Given the description of an element on the screen output the (x, y) to click on. 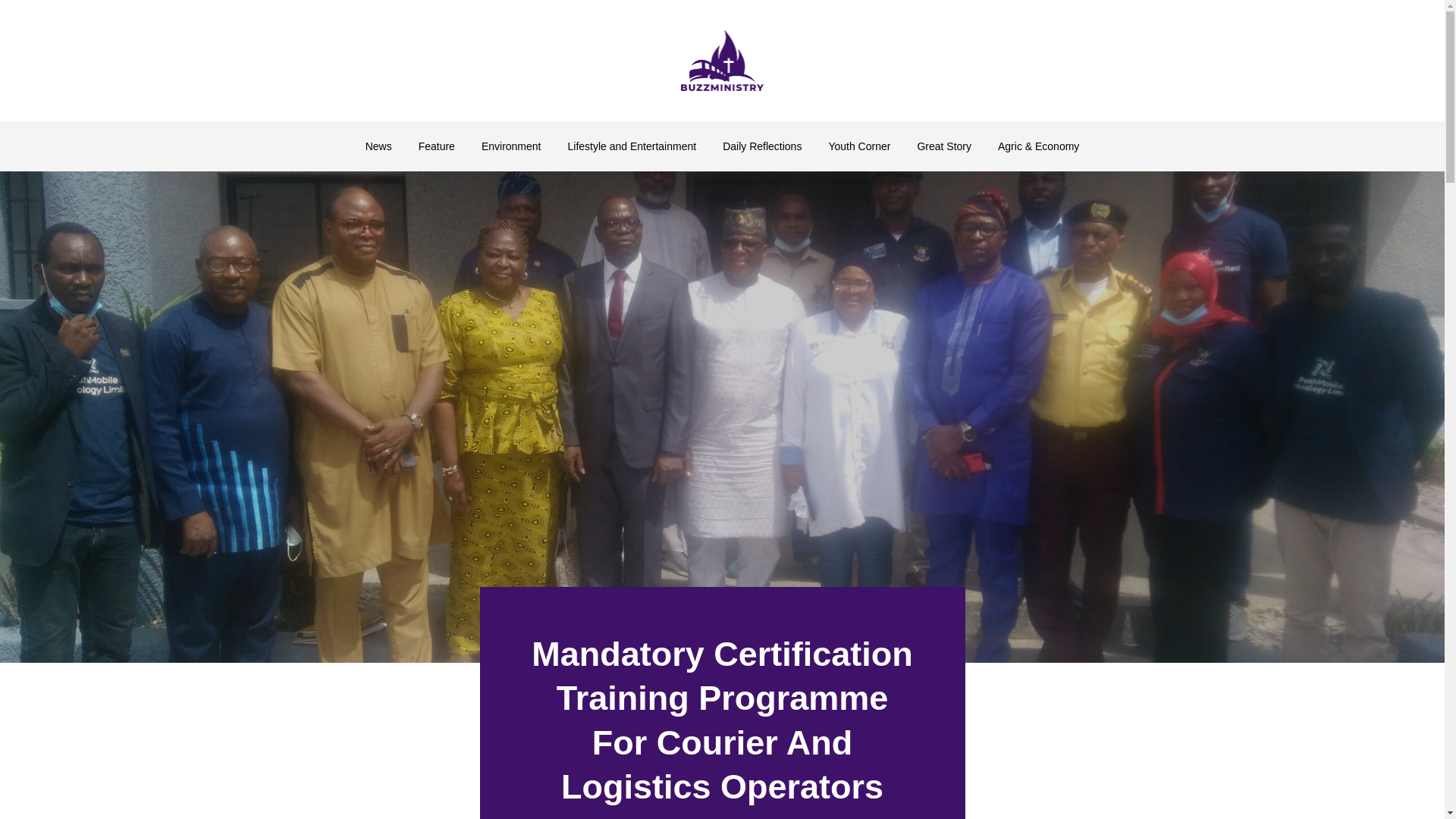
Youth Corner (858, 145)
News (378, 145)
Environment (510, 145)
Feature (436, 145)
Lifestyle and Entertainment (631, 145)
Daily Reflections (761, 145)
Great Story (944, 145)
